Given the description of an element on the screen output the (x, y) to click on. 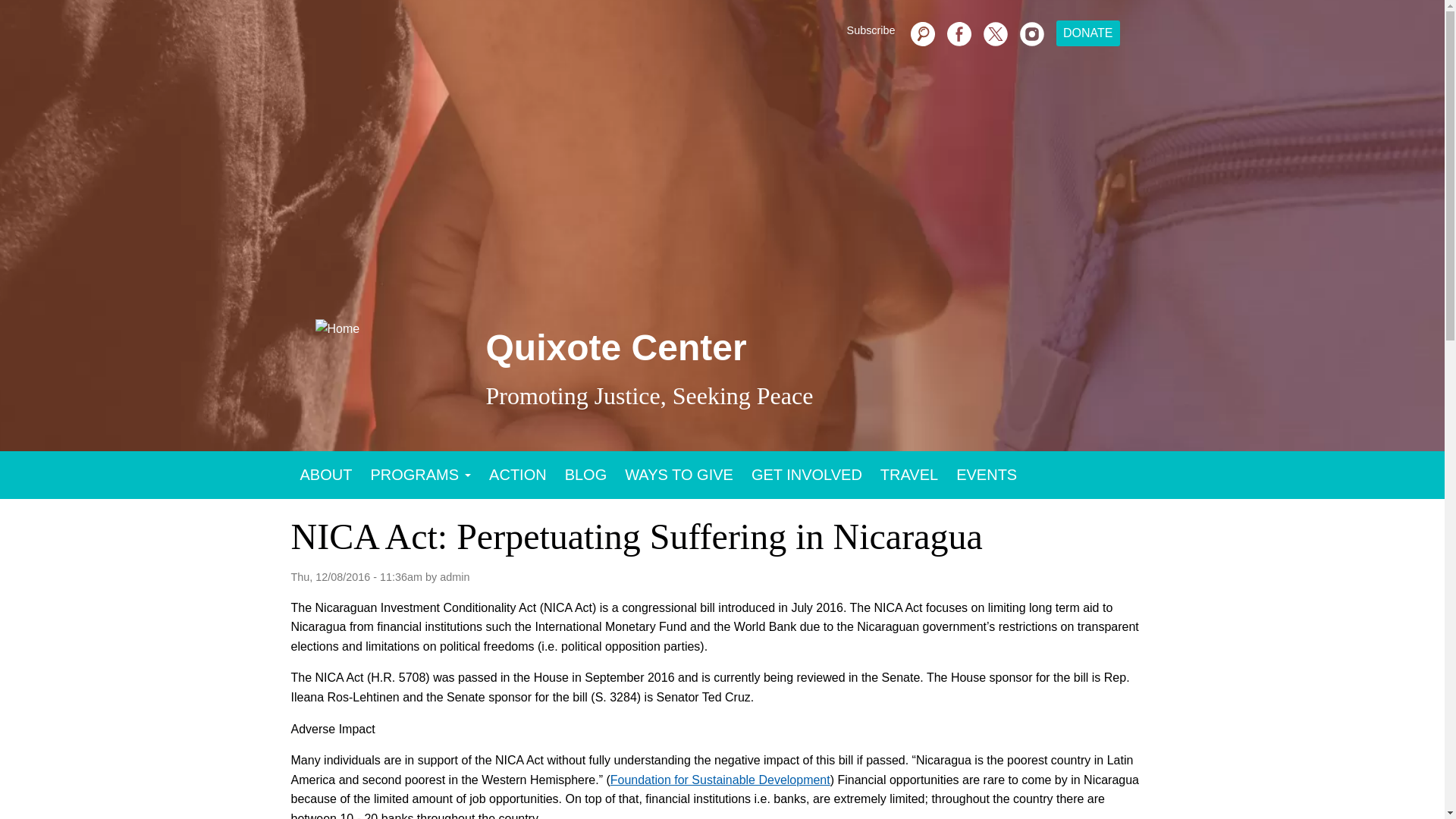
DONATE (1088, 32)
WAYS TO GIVE (678, 474)
GET INVOLVED (806, 474)
ACTION (518, 474)
TRAVEL (908, 474)
Foundation for Sustainable Development (719, 779)
BLOG (585, 474)
PROGRAMS (420, 474)
ABOUT (326, 474)
Skip to main content (746, 367)
Subscribe (986, 474)
EVENTS (871, 30)
